Given the description of an element on the screen output the (x, y) to click on. 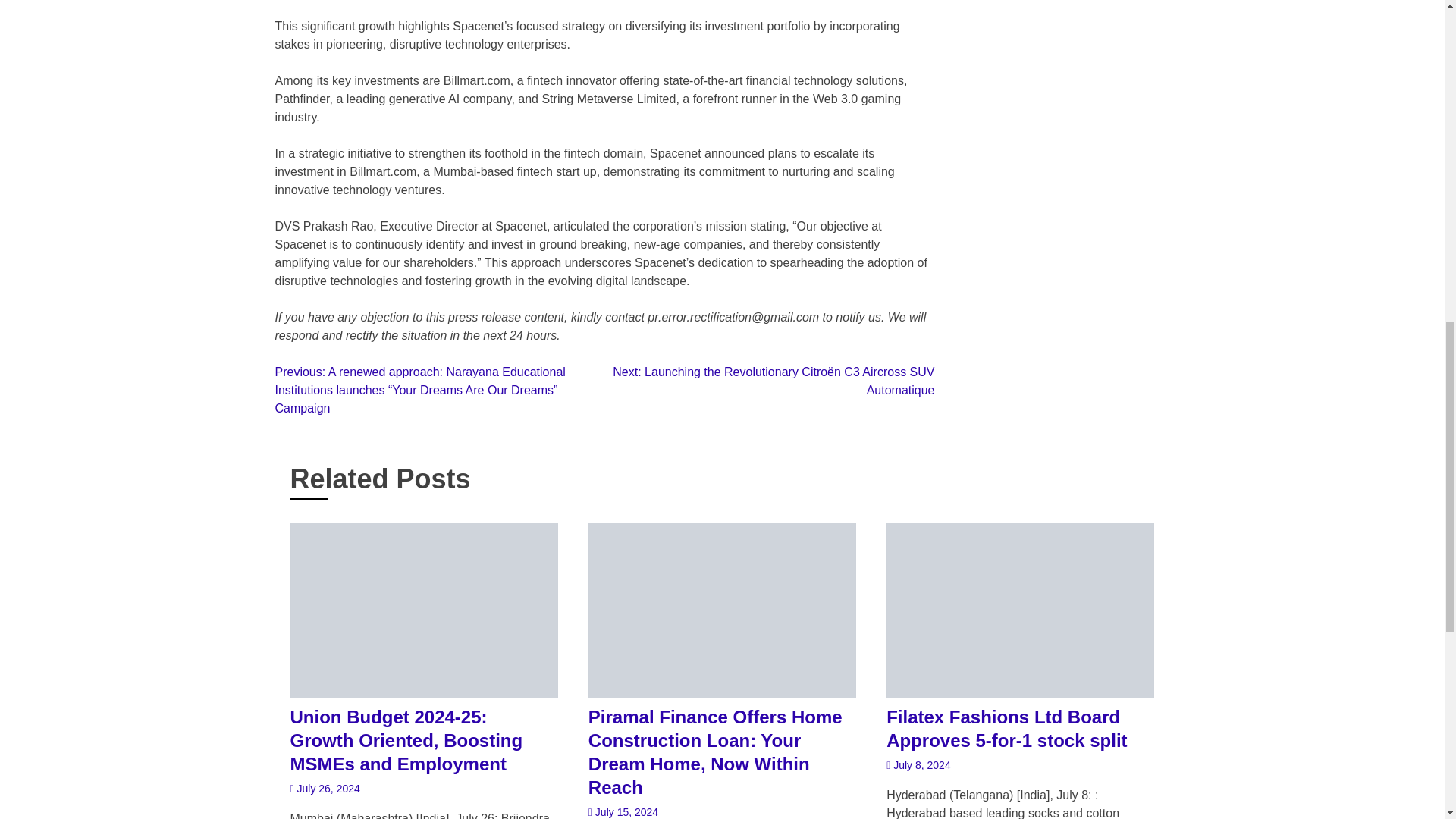
July 15, 2024 (623, 811)
July 8, 2024 (918, 765)
Filatex Fashions Ltd Board Approves 5-for-1 stock split (1020, 728)
July 26, 2024 (324, 788)
